Given the description of an element on the screen output the (x, y) to click on. 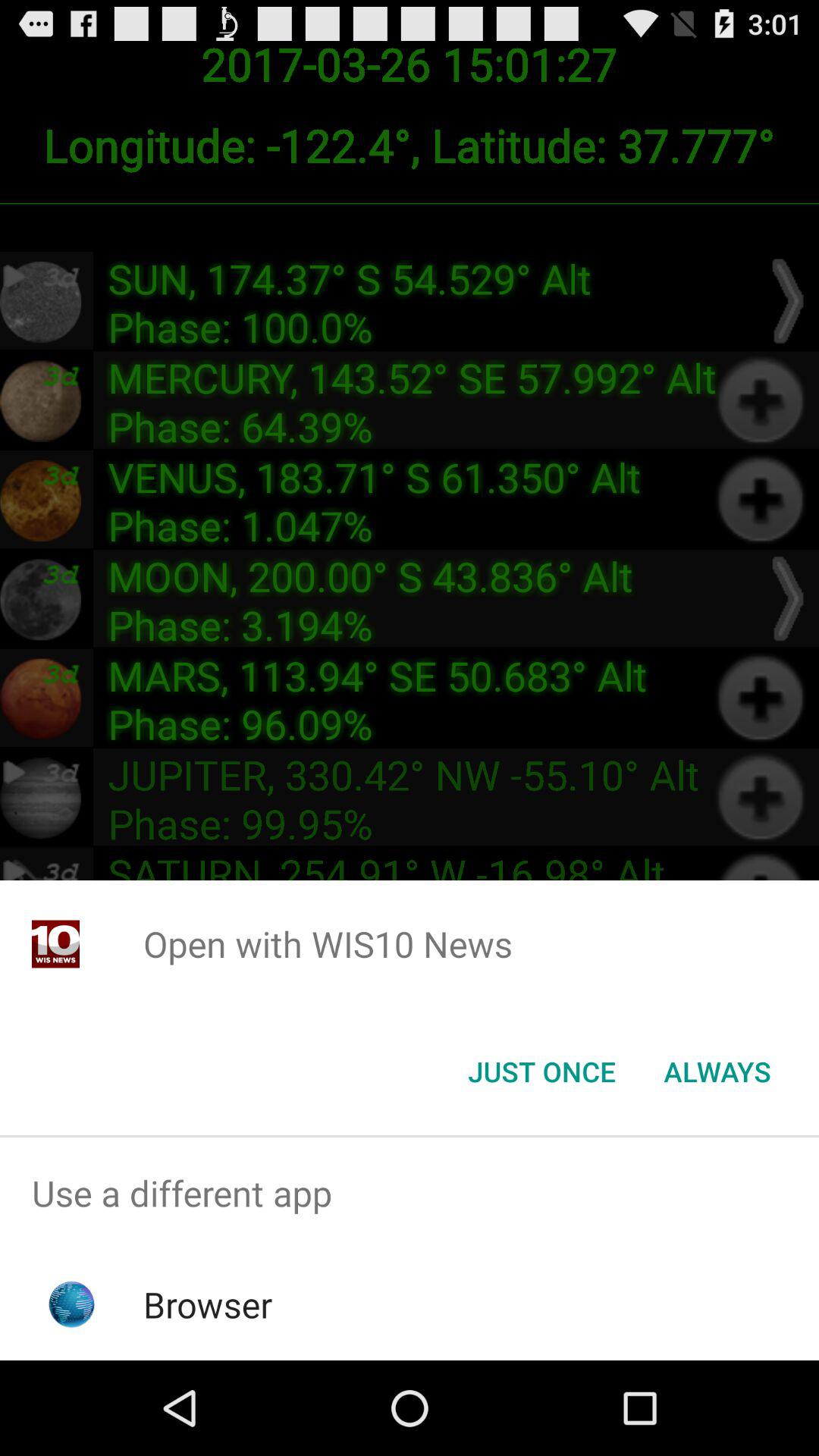
open icon below open with wis10 (717, 1071)
